Given the description of an element on the screen output the (x, y) to click on. 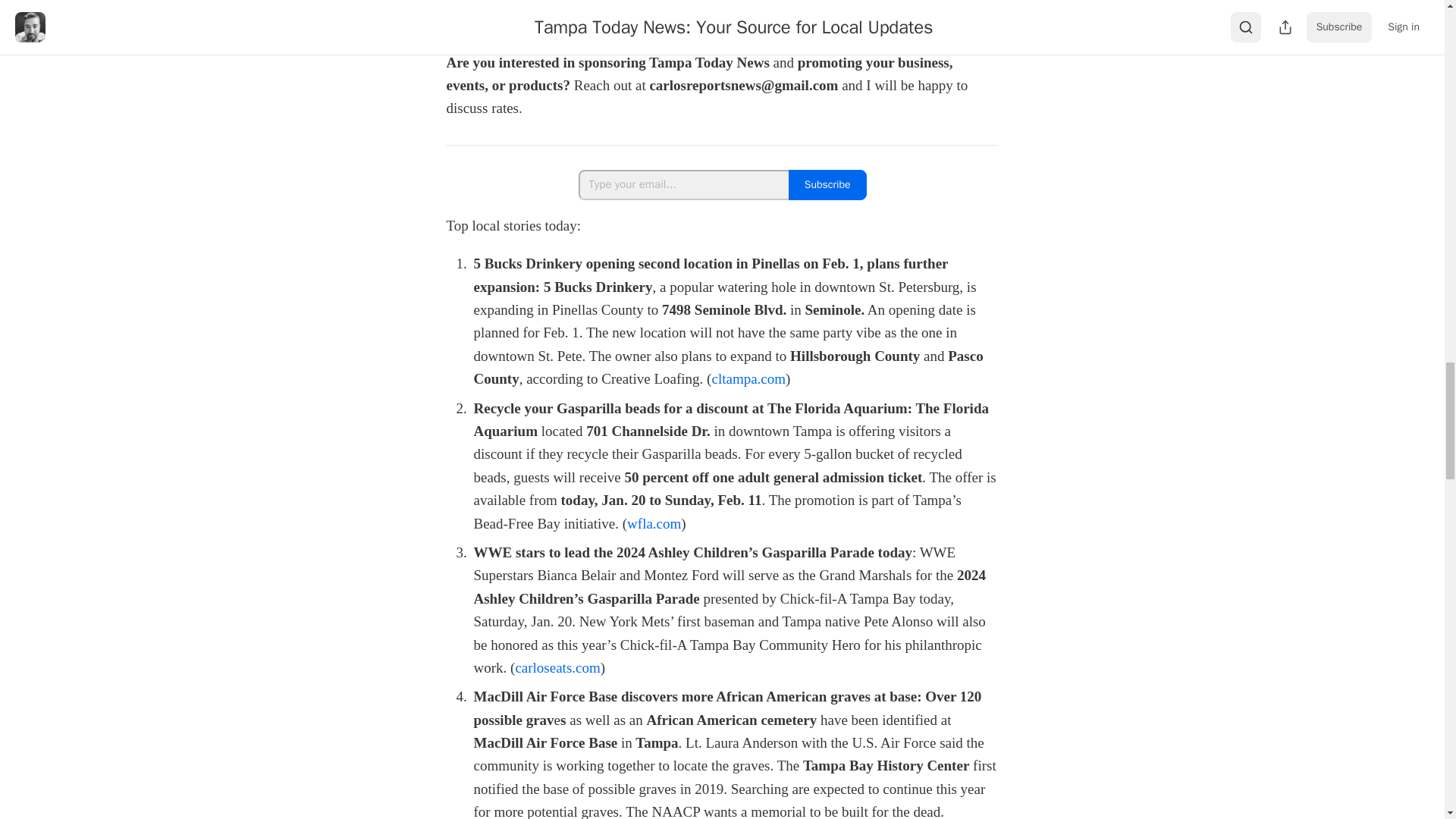
Subscribe (827, 184)
cltampa.com (748, 378)
carloseats.com (557, 667)
wfla.com (654, 523)
